Given the description of an element on the screen output the (x, y) to click on. 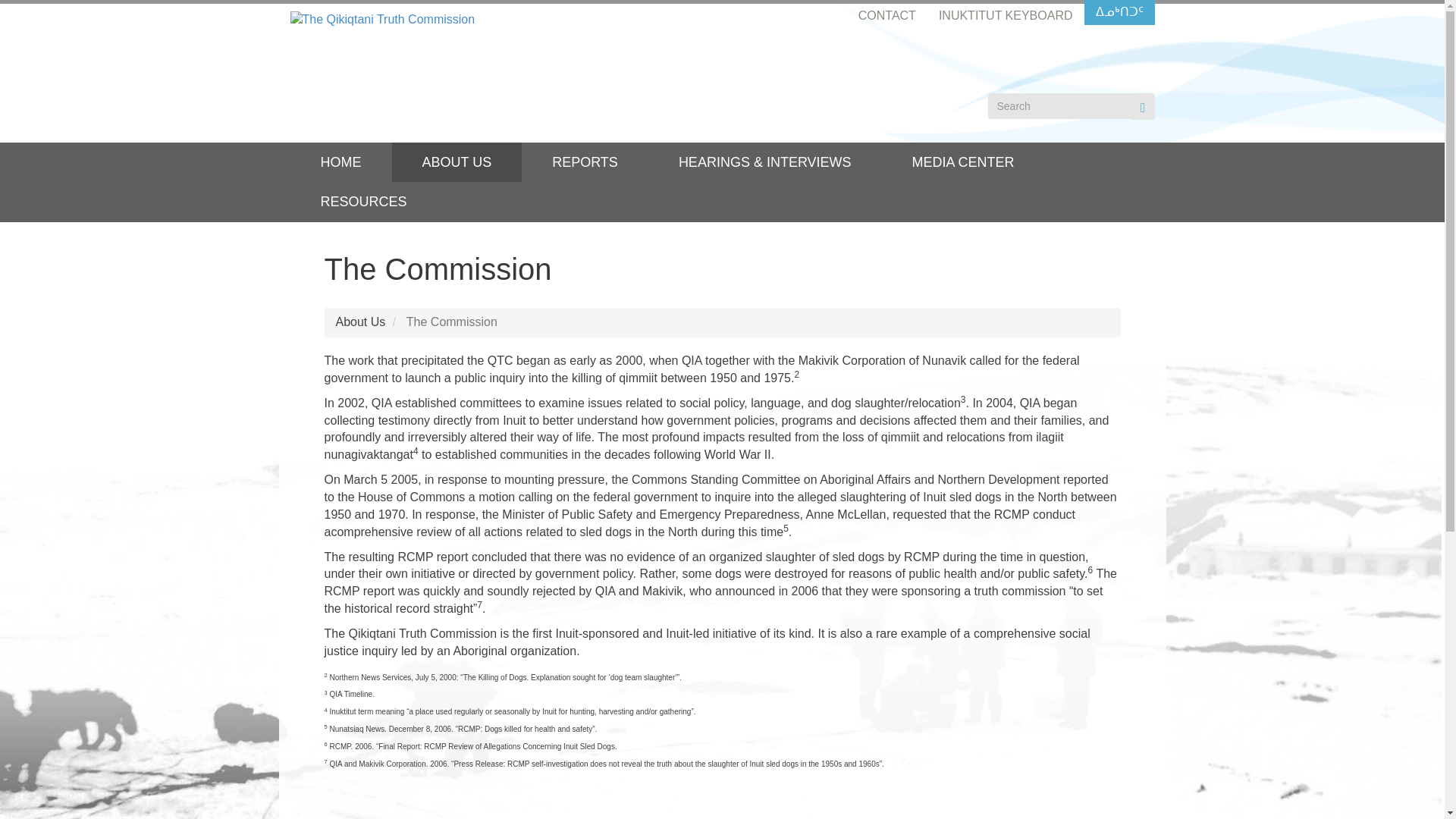
The Qikiqtani Truth Commission (381, 19)
CONTACT (887, 16)
INUKTITUT KEYBOARD (1005, 16)
HOME (340, 162)
